Given the description of an element on the screen output the (x, y) to click on. 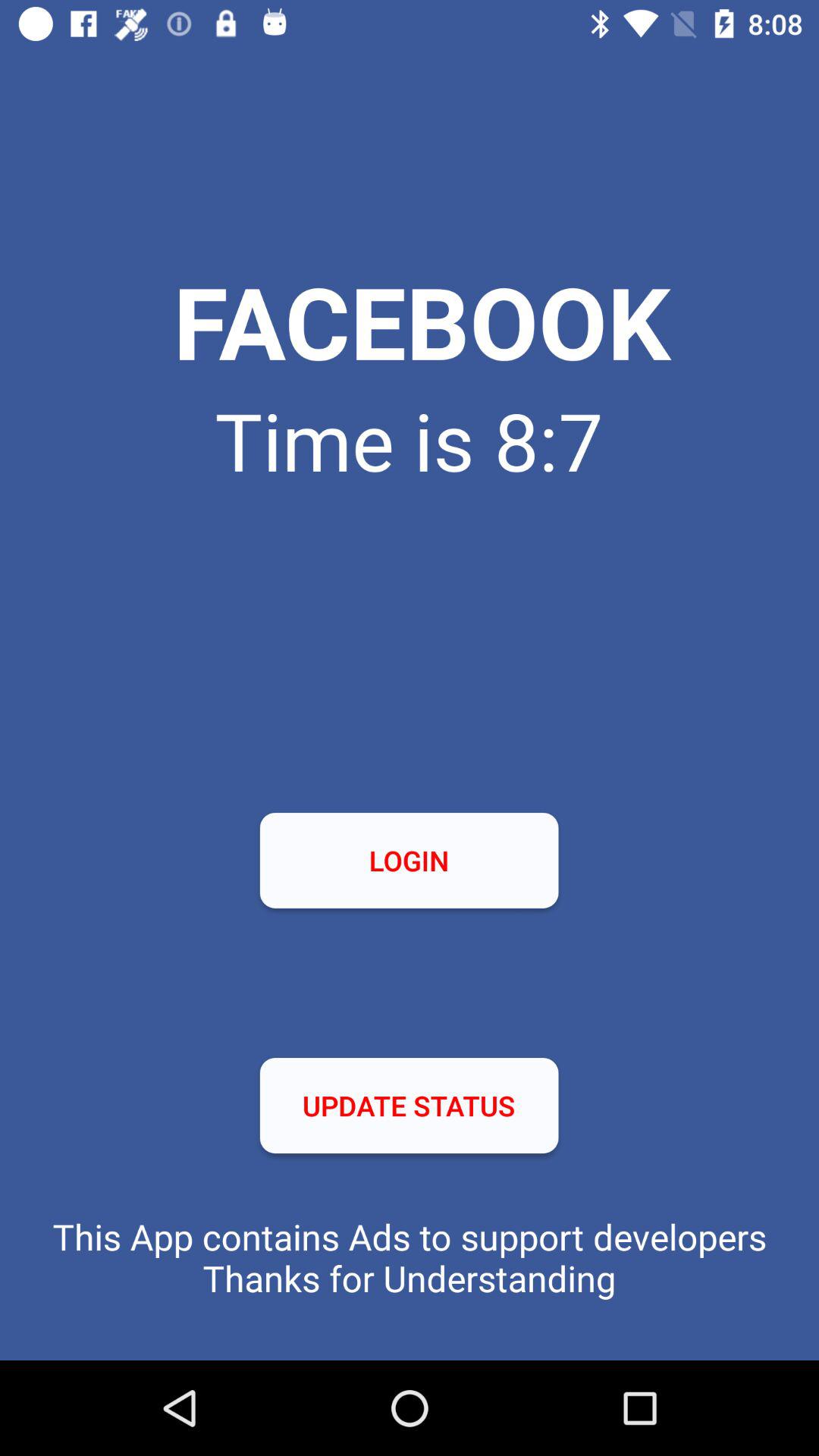
launch icon above the update status icon (408, 860)
